Given the description of an element on the screen output the (x, y) to click on. 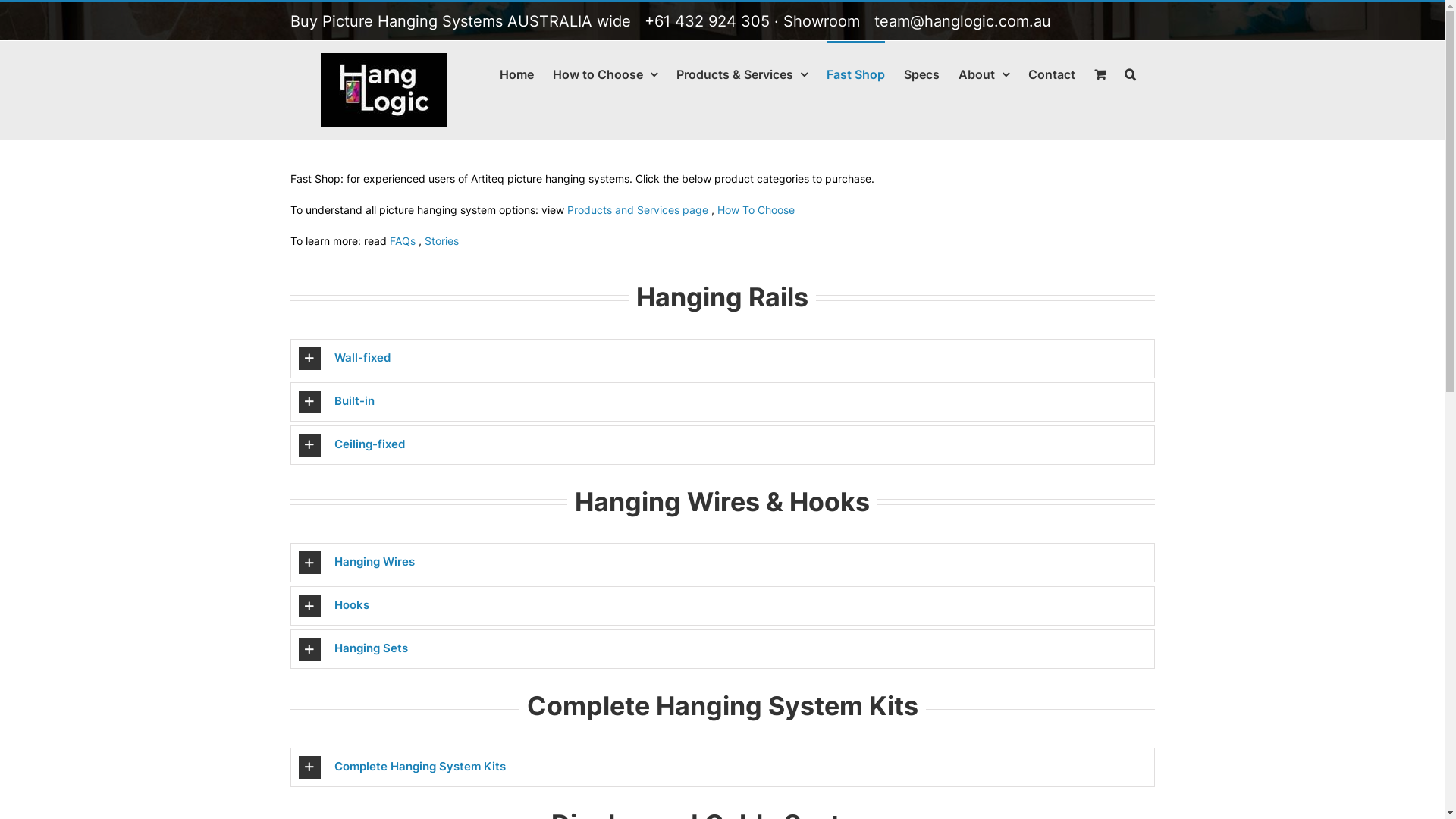
Home Element type: text (515, 72)
Search Element type: hover (1129, 72)
About Element type: text (983, 72)
Hanging Wires Element type: text (722, 562)
How To Choose Element type: text (755, 209)
Wall-fixed Element type: text (722, 358)
Complete Hanging System Kits Element type: text (722, 767)
Stories Element type: text (441, 240)
Hooks Element type: text (722, 605)
FAQs Element type: text (402, 240)
Products and Services page Element type: text (637, 209)
Hanging Sets Element type: text (722, 649)
Fast Shop Element type: text (855, 72)
Specs Element type: text (921, 72)
How to Choose Element type: text (604, 72)
Products & Services Element type: text (741, 72)
Contact Element type: text (1051, 72)
team@hanglogic.com.au Element type: text (961, 21)
Ceiling-fixed Element type: text (722, 445)
Showroom Element type: text (820, 21)
Built-in Element type: text (722, 401)
+61 432 924 305 Element type: text (706, 21)
